Given the description of an element on the screen output the (x, y) to click on. 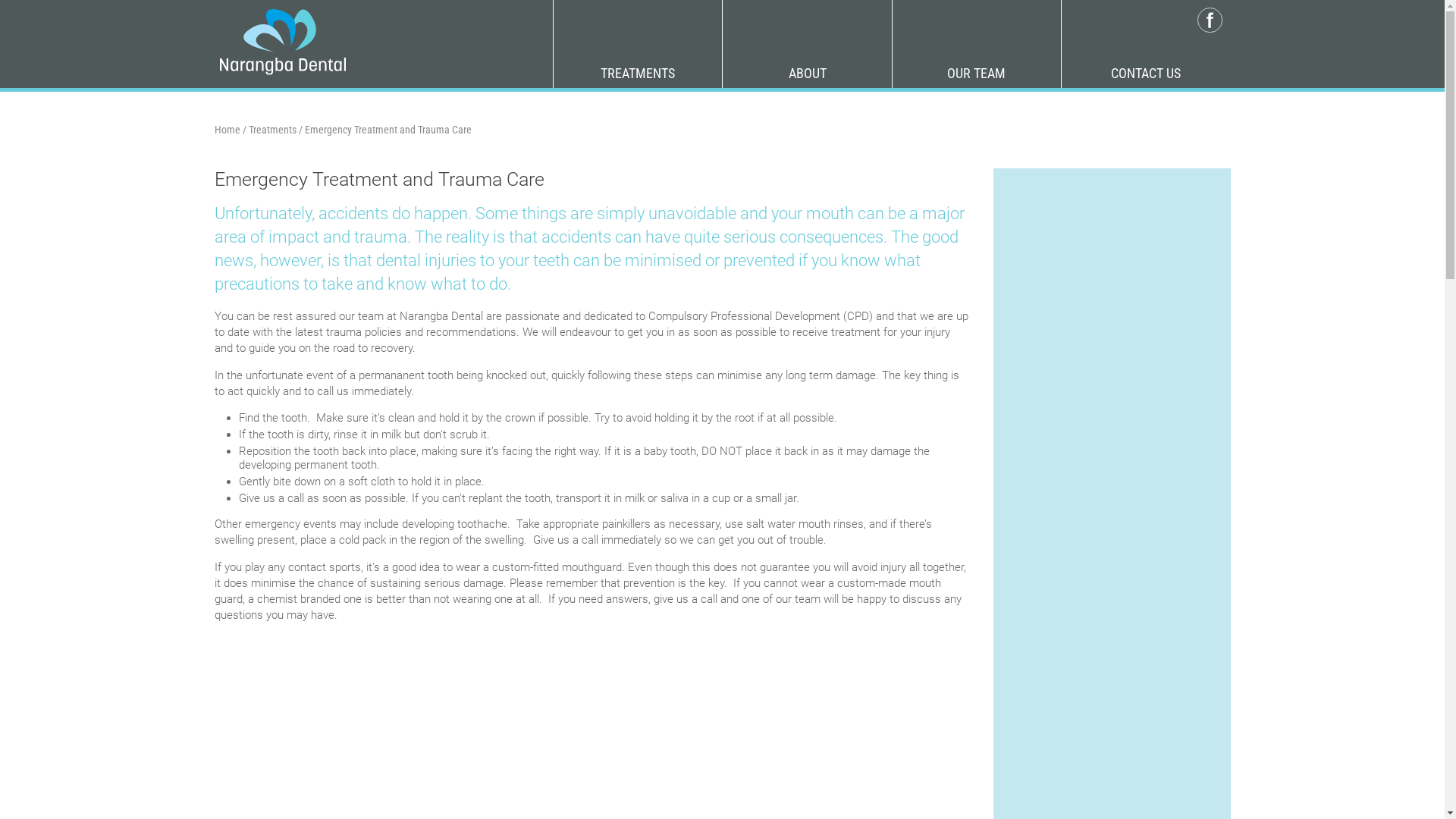
ABOUT Element type: text (806, 72)
OUR TEAM Element type: text (976, 72)
Treatments Element type: text (272, 129)
CONTACT US Element type: text (1145, 72)
TREATMENTS Element type: text (637, 72)
Home Element type: text (226, 129)
